Given the description of an element on the screen output the (x, y) to click on. 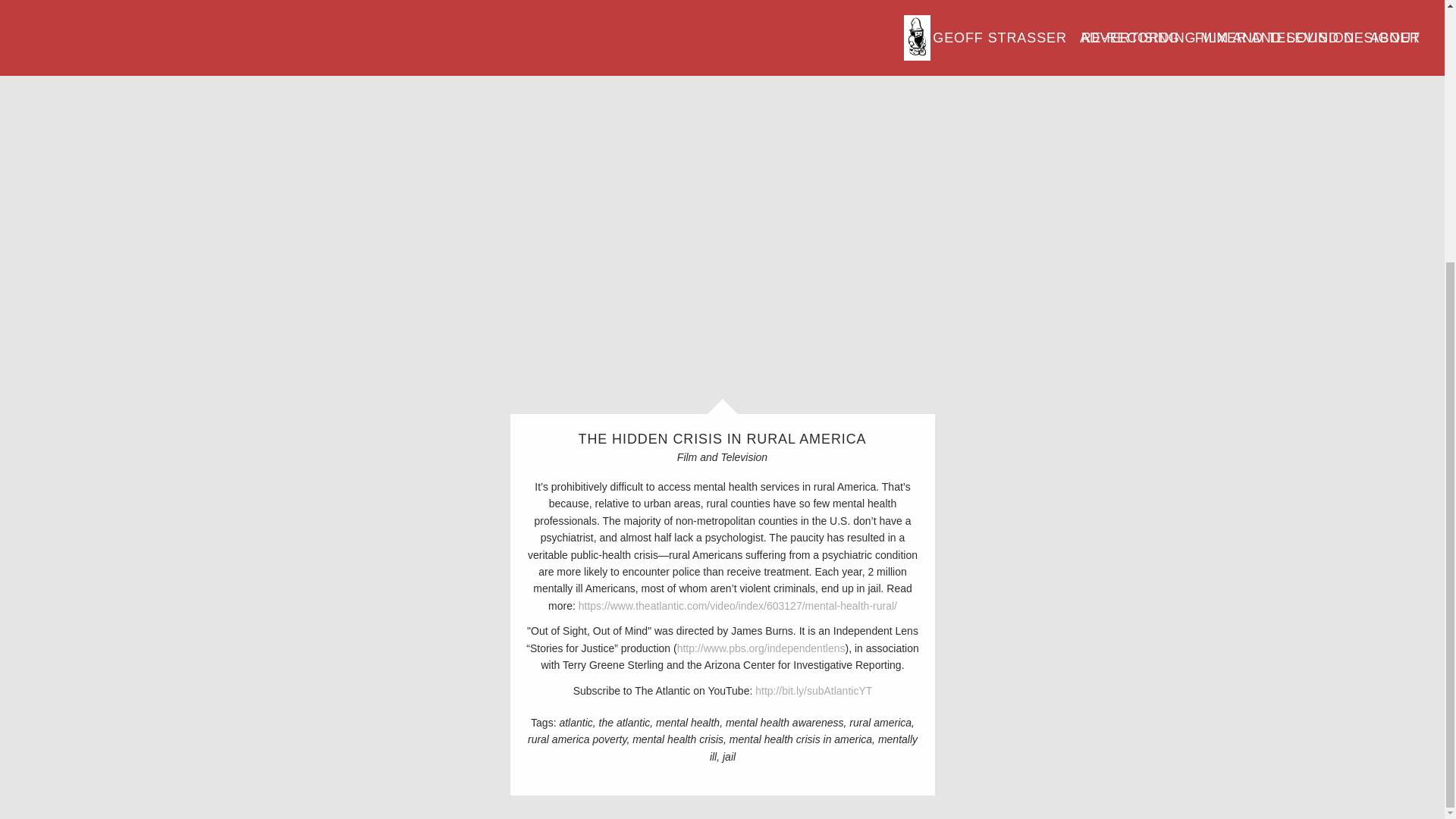
atlantic (577, 722)
the atlantic (625, 722)
mental health crisis in america (802, 739)
mental health (689, 722)
jail (728, 756)
jail (728, 756)
mentally ill (813, 747)
mentally ill (813, 747)
mental health awareness (785, 722)
